Given the description of an element on the screen output the (x, y) to click on. 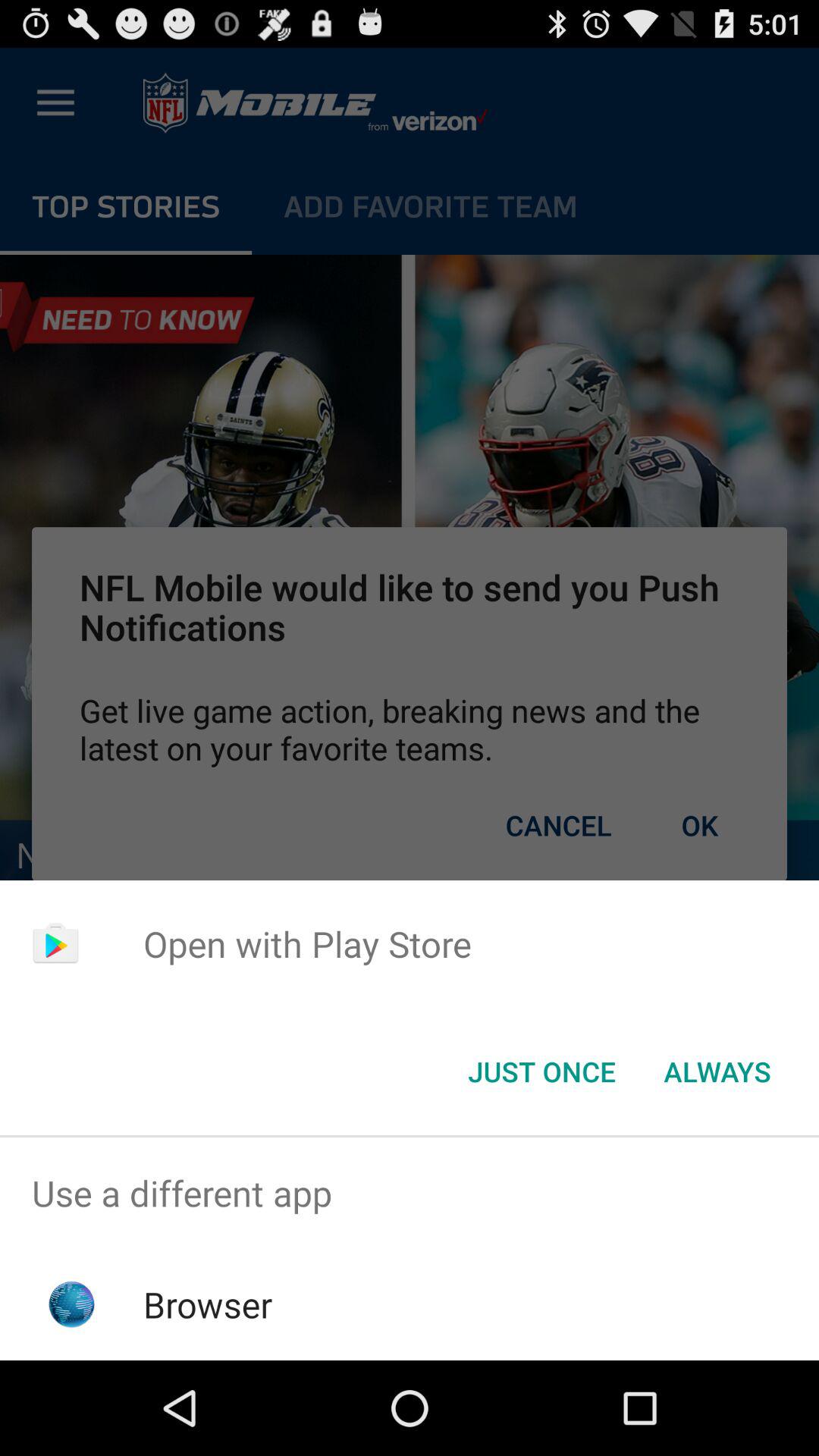
click icon next to the just once button (717, 1071)
